Given the description of an element on the screen output the (x, y) to click on. 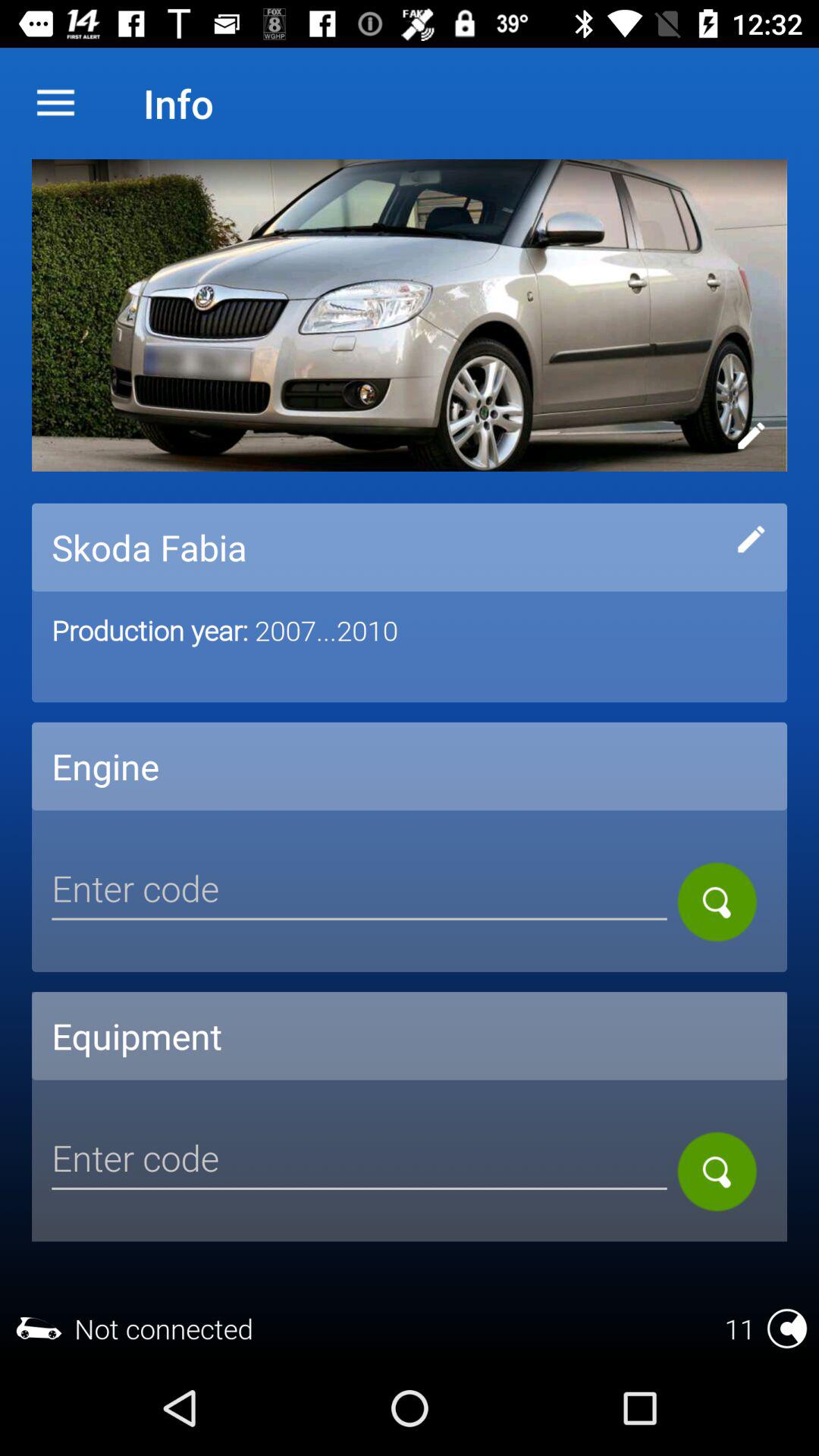
zoom in (717, 901)
